Given the description of an element on the screen output the (x, y) to click on. 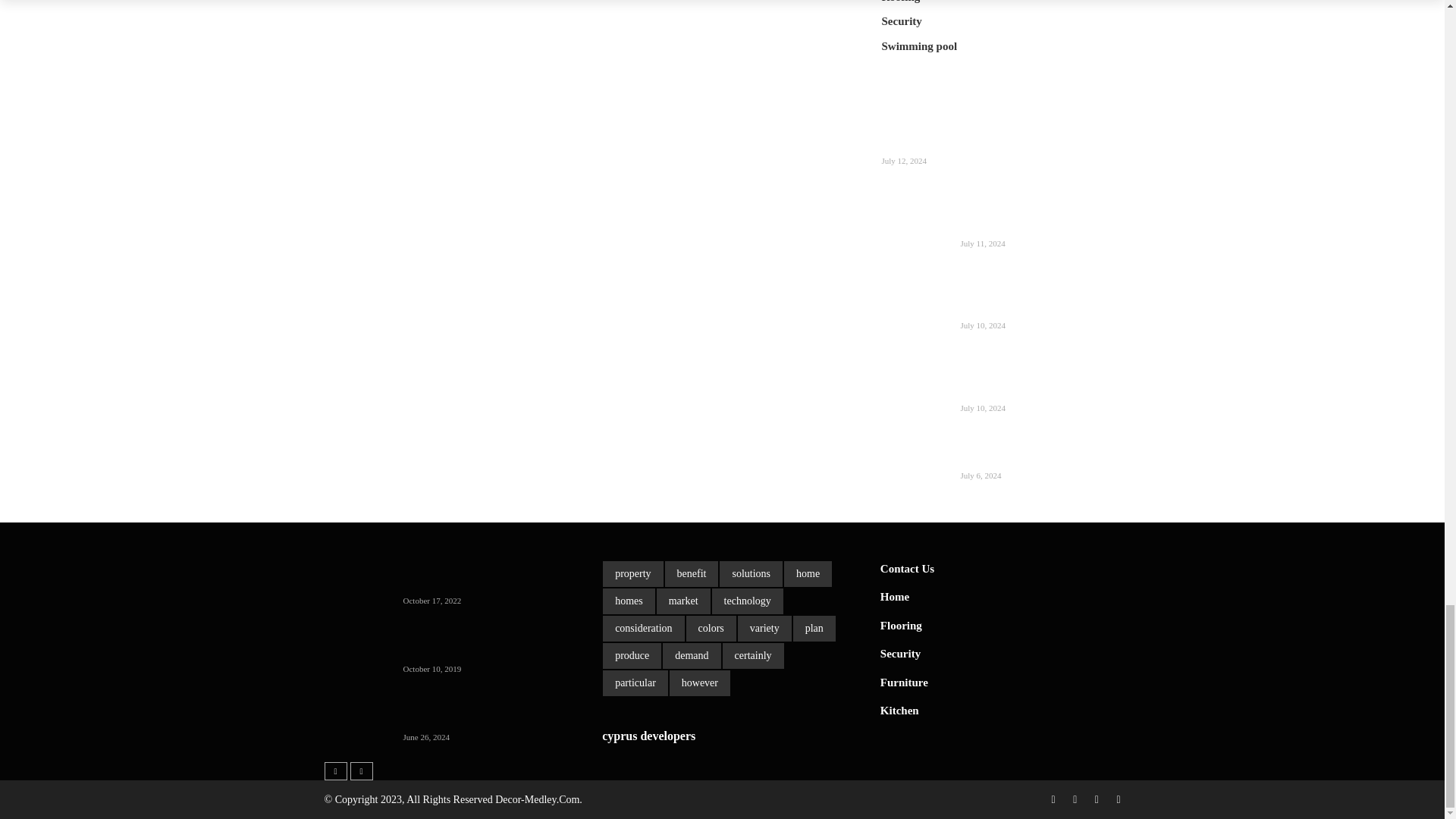
Previous (335, 770)
Next (361, 770)
